Given the description of an element on the screen output the (x, y) to click on. 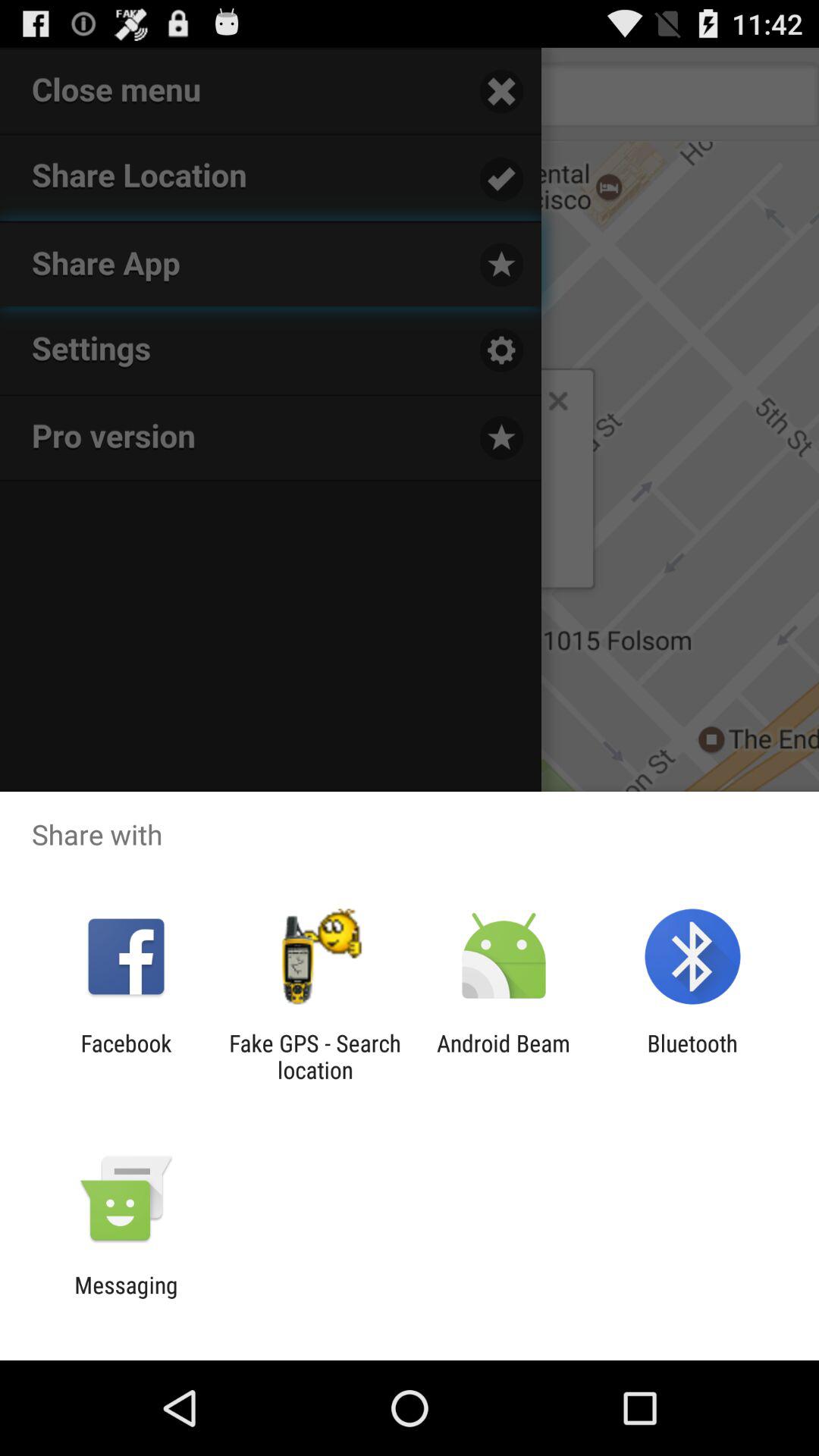
launch the app next to facebook icon (314, 1056)
